Given the description of an element on the screen output the (x, y) to click on. 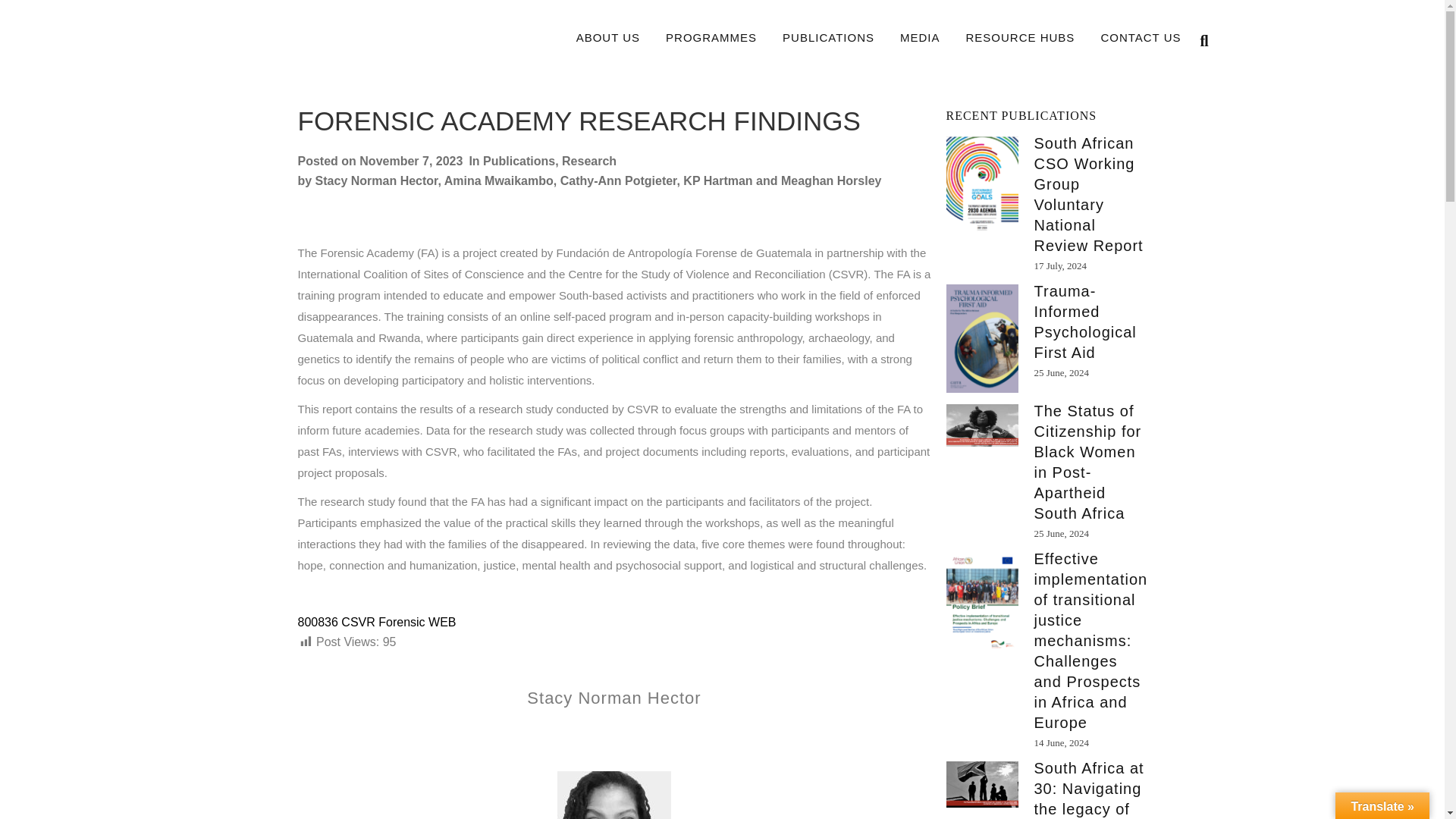
RESOURCE HUBS (1020, 38)
PROGRAMMES (711, 38)
ABOUT US (607, 38)
CONTACT US (1140, 38)
PUBLICATIONS (828, 38)
